Given the description of an element on the screen output the (x, y) to click on. 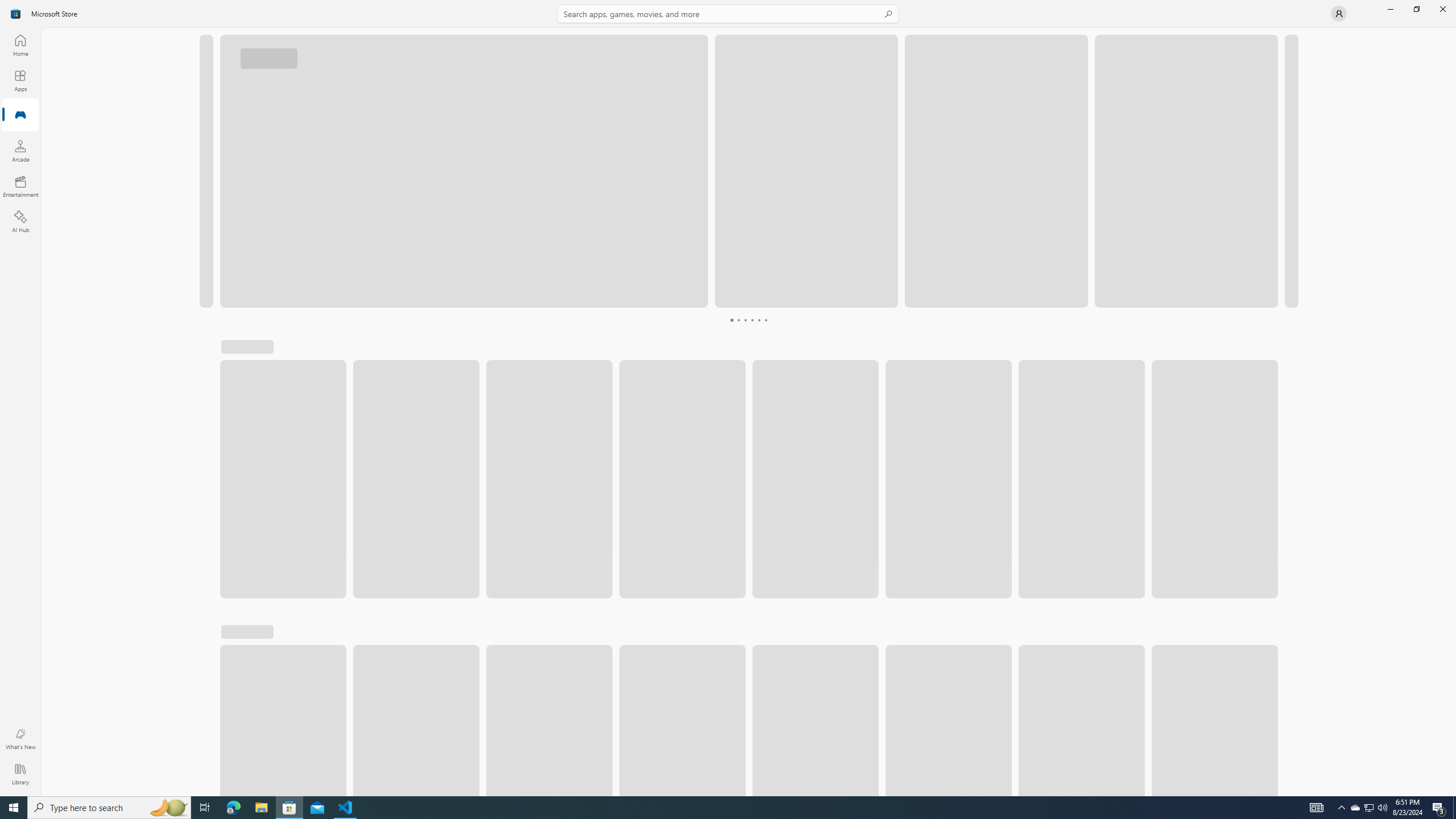
Family & Kids (1154, 352)
Page 6 (751, 319)
Simulation (365, 352)
Minimize Microsoft Store (1390, 9)
Page 9 (772, 319)
Casino (1013, 352)
Page 10 (779, 319)
Apps (20, 80)
Home (20, 45)
AutomationID: RightScrollButton (1269, 668)
Pager (748, 319)
See all  Best selling games (280, 383)
